Given the description of an element on the screen output the (x, y) to click on. 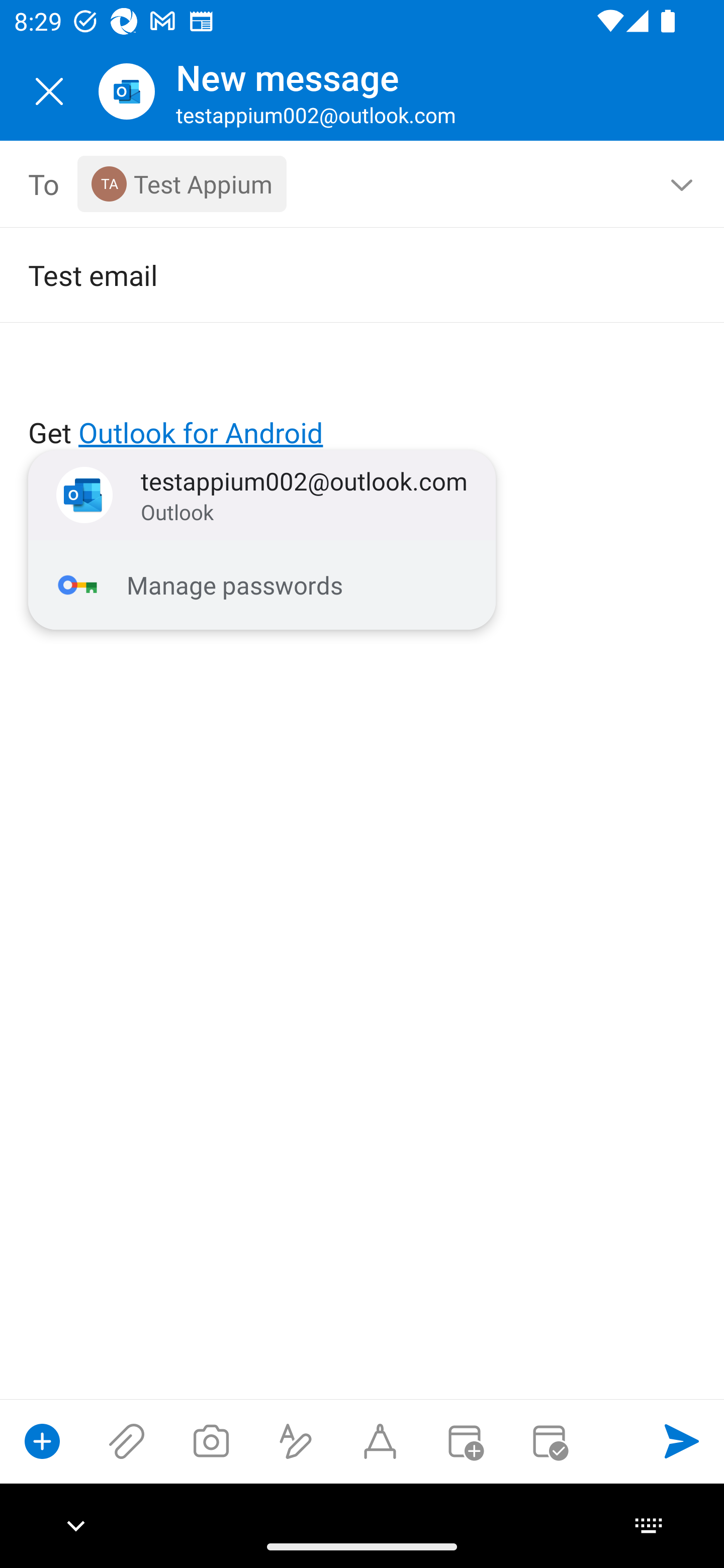
Outlook testappium002@outlook.com Outlook (261, 495)
Google Password Manager Manage passwords (261, 585)
